Given the description of an element on the screen output the (x, y) to click on. 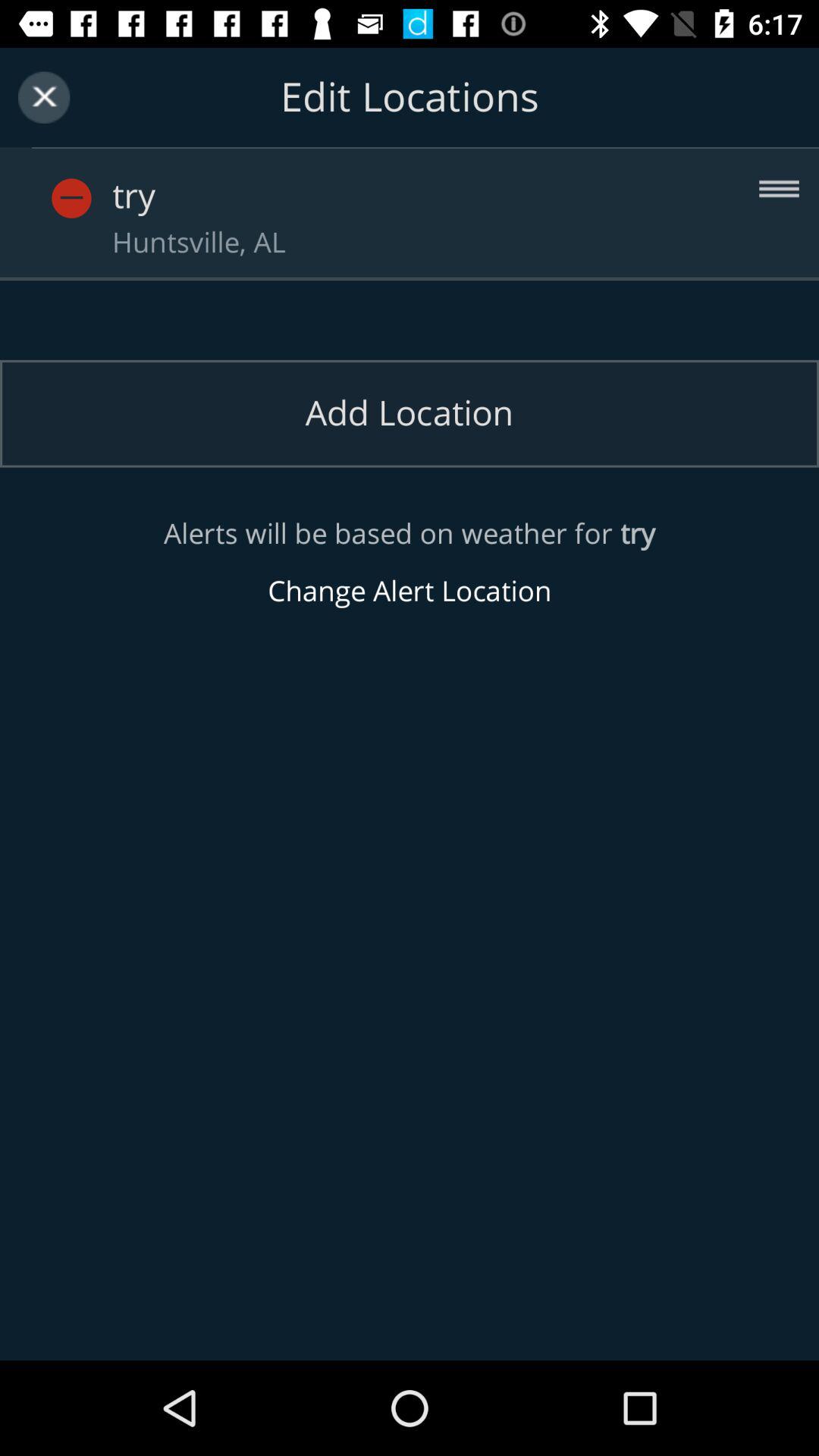
minus the number of elements included (99, 182)
